Given the description of an element on the screen output the (x, y) to click on. 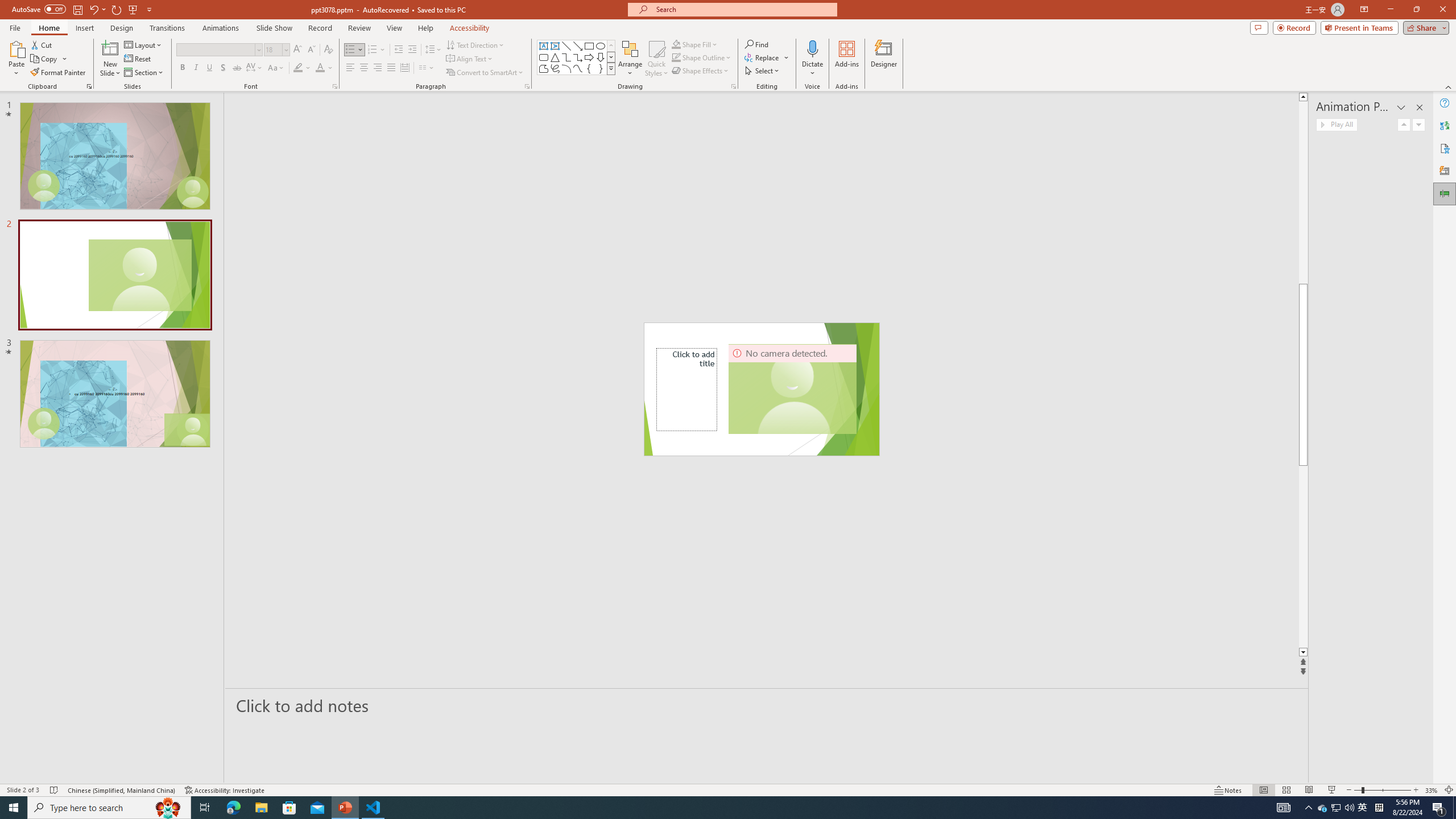
Row up (611, 45)
Clear Formatting (327, 49)
AutomationID: ShapesInsertGallery (576, 57)
Oval (600, 45)
Distributed (404, 67)
Numbering (372, 49)
Cut (42, 44)
Isosceles Triangle (554, 57)
Vertical Text Box (554, 45)
Format Painter (58, 72)
Microsoft search (742, 9)
Change Case (276, 67)
Paste (16, 48)
Row Down (611, 56)
Justify (390, 67)
